Given the description of an element on the screen output the (x, y) to click on. 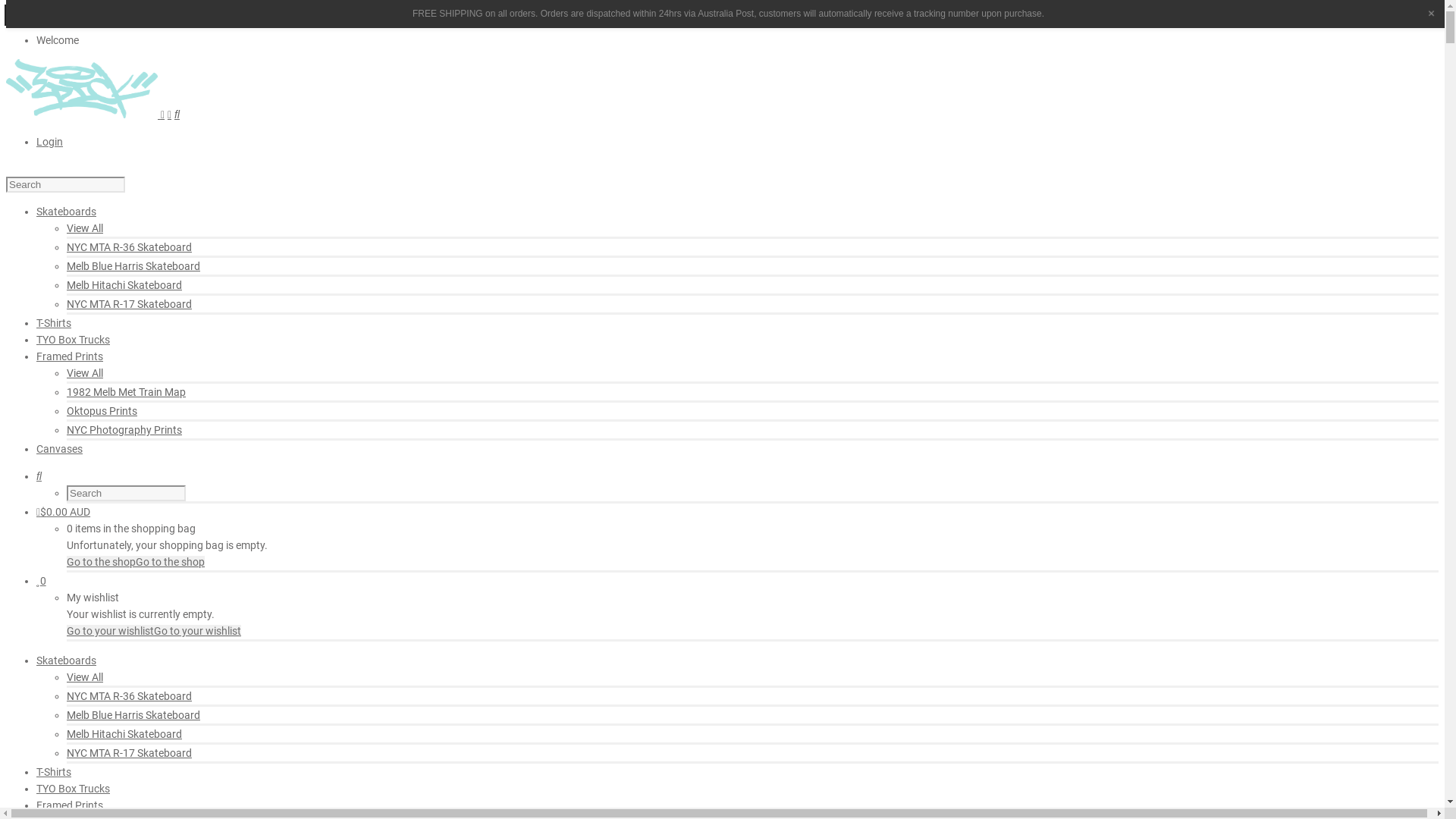
T-Shirts Element type: text (53, 771)
NYC Photography Prints Element type: text (124, 429)
NYC MTA R-17 Skateboard Element type: text (128, 304)
View All Element type: text (84, 677)
T-Shirts Element type: text (53, 322)
Melb Blue Harris Skateboard Element type: text (133, 715)
Skateboards Element type: text (66, 660)
Go to your wishlistGo to your wishlist Element type: text (153, 630)
Canvases Element type: text (59, 448)
1982 Melb Met Train Map Element type: text (125, 391)
Melb Hitachi Skateboard Element type: text (124, 285)
+ Element type: text (1431, 13)
0 Element type: text (41, 580)
TYO Box Trucks Element type: text (72, 788)
View All Element type: text (84, 373)
Framed Prints Element type: text (69, 356)
Skateboards Element type: text (66, 211)
Framed Prints Element type: text (69, 805)
View All Element type: text (84, 228)
NYC MTA R-36 Skateboard Element type: text (128, 247)
TYO Box Trucks Element type: text (72, 339)
NYC MTA R-17 Skateboard Element type: text (128, 752)
Melb Blue Harris Skateboard Element type: text (133, 266)
Login Element type: text (49, 141)
$0.00 AUD Element type: text (63, 511)
Oktopus Prints Element type: text (101, 410)
Go to the shopGo to the shop Element type: text (135, 561)
NYC MTA R-36 Skateboard Element type: text (128, 696)
Melb Hitachi Skateboard Element type: text (124, 734)
